Given the description of an element on the screen output the (x, y) to click on. 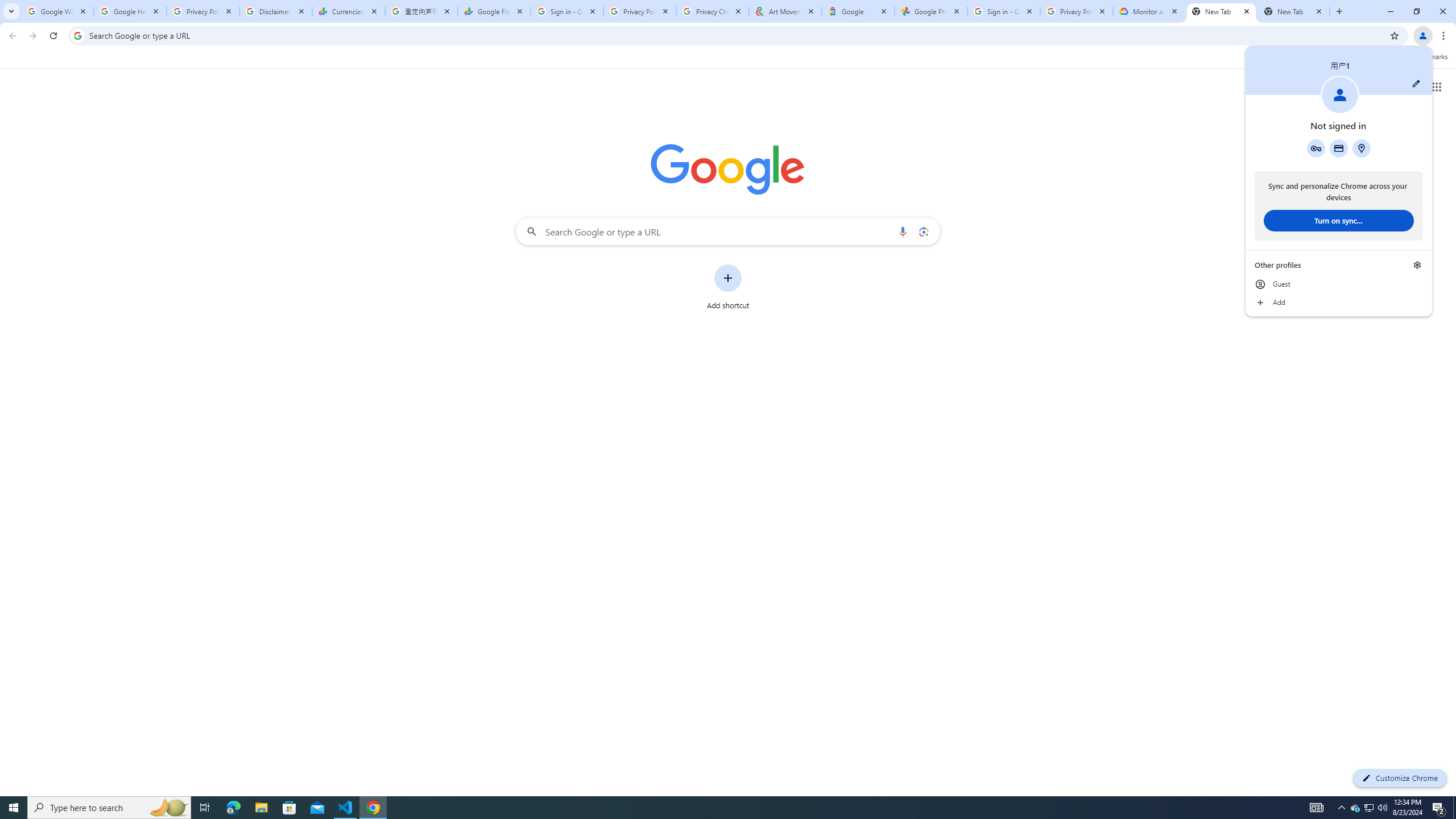
File Explorer (261, 807)
Notification Chevron (1341, 807)
New Tab (1293, 11)
